Given the description of an element on the screen output the (x, y) to click on. 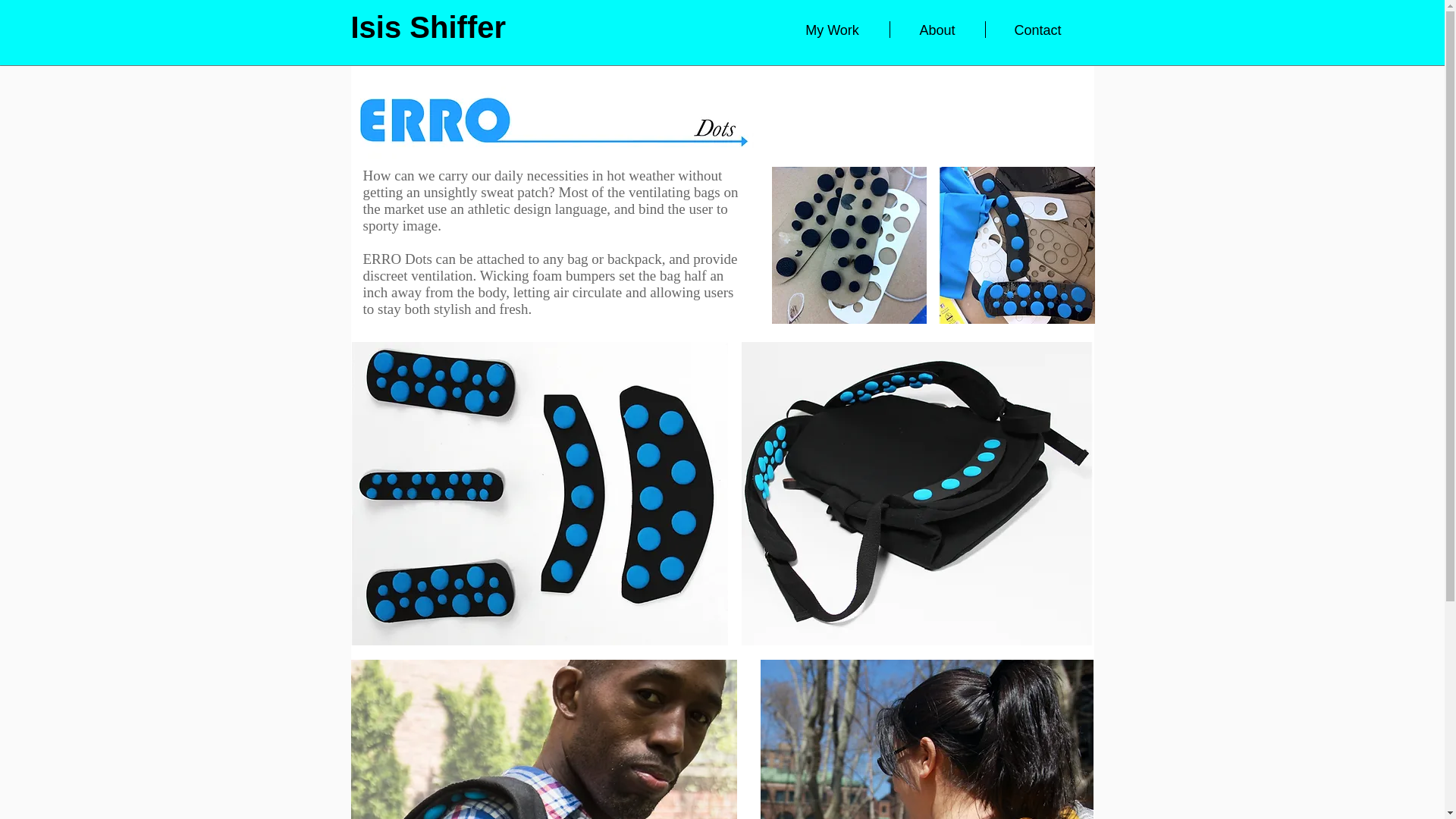
About (937, 29)
Contact (1037, 29)
Isis Shiffer (427, 27)
My Work (831, 29)
